Given the description of an element on the screen output the (x, y) to click on. 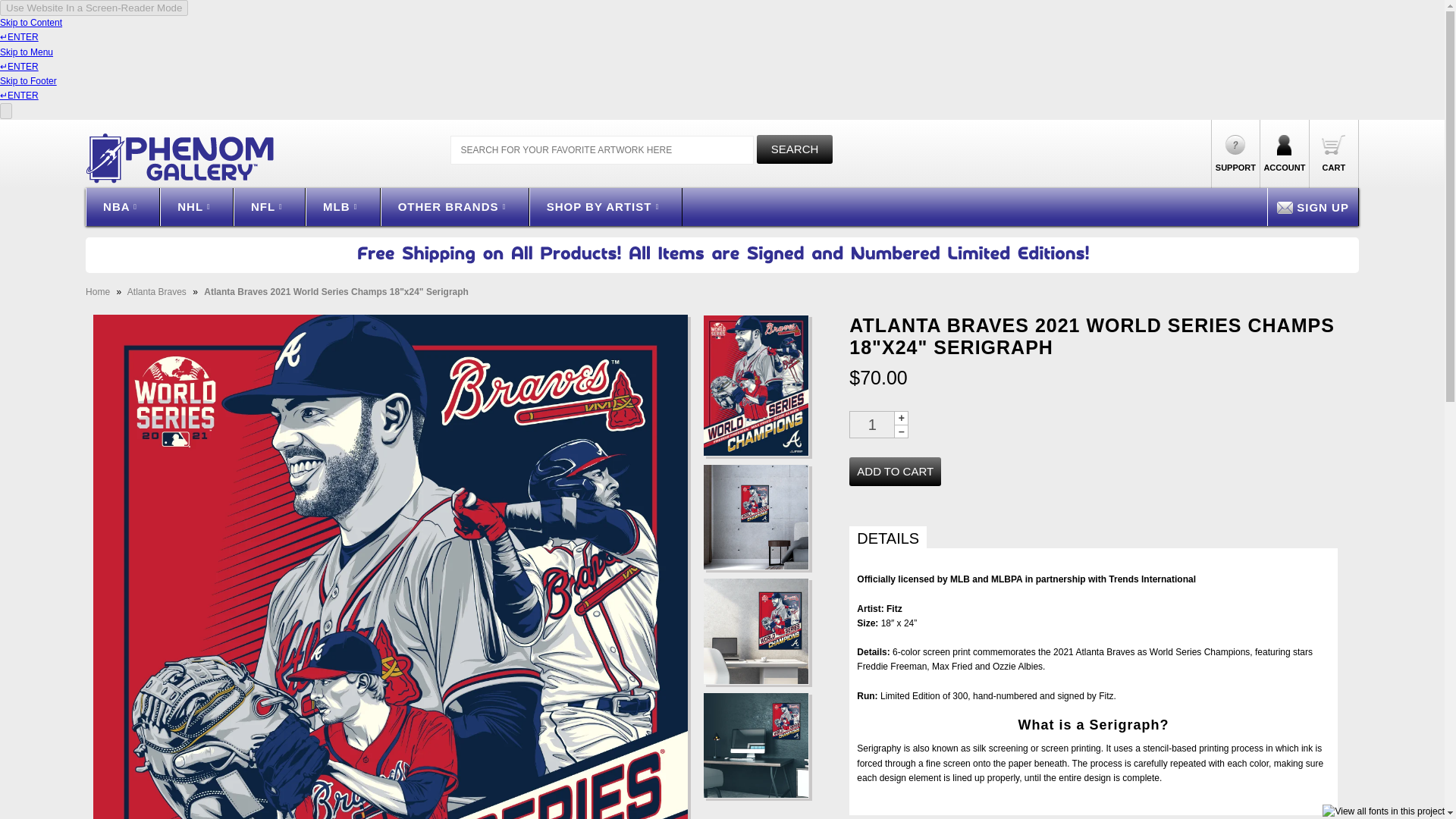
1 (871, 424)
Add to Cart (894, 471)
NBA (122, 207)
Qty (871, 424)
Search (794, 149)
Search (794, 149)
Back to the frontpage (99, 291)
